Given the description of an element on the screen output the (x, y) to click on. 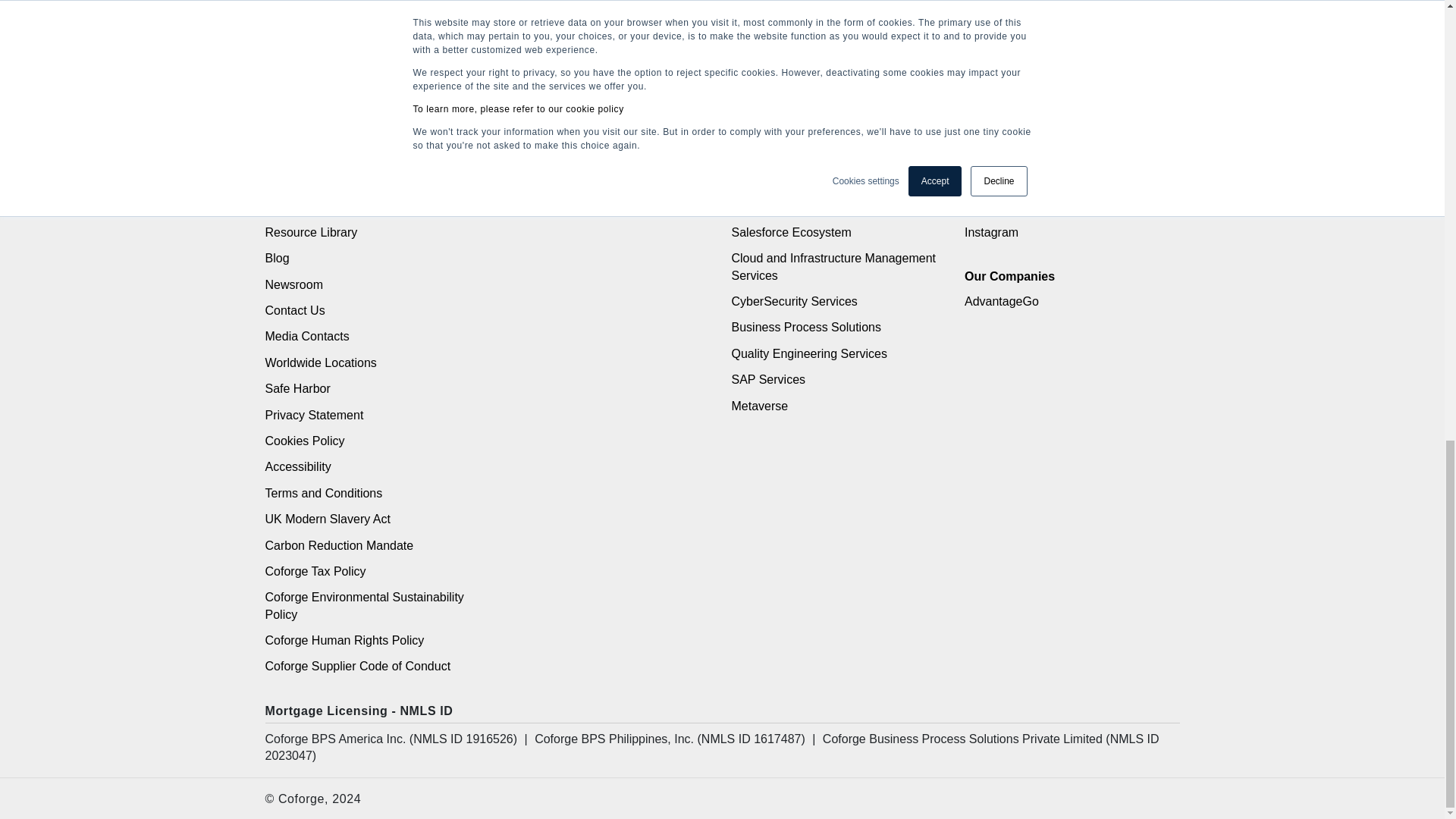
Facebook (990, 154)
YouTube (987, 205)
LinkedIn (986, 127)
Instagram (990, 232)
AdvantageGo (1001, 300)
